Given the description of an element on the screen output the (x, y) to click on. 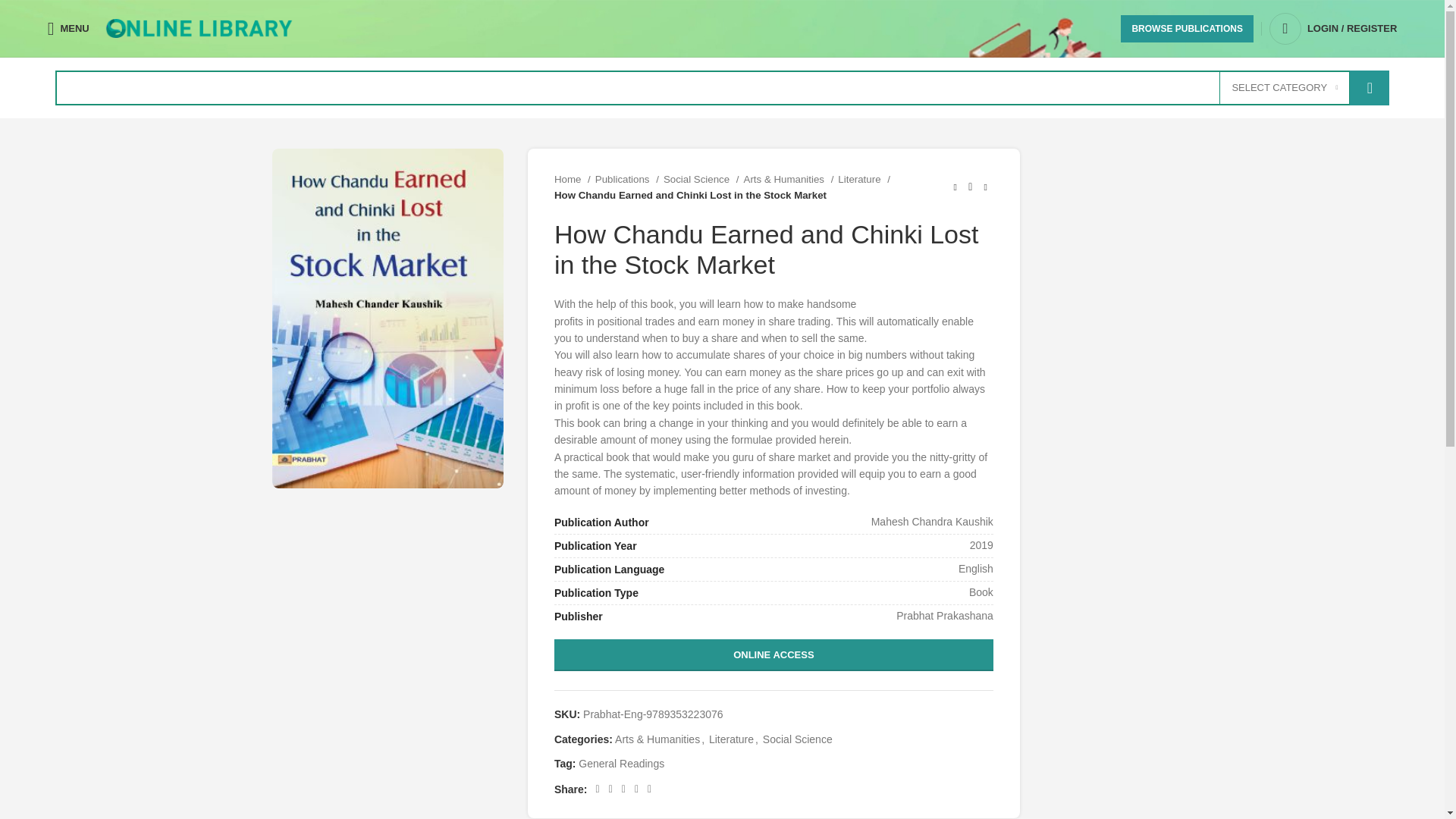
Search for products (722, 87)
Publications (627, 179)
BROWSE PUBLICATIONS (1186, 28)
General Readings (620, 763)
Log in (1271, 245)
SELECT CATEGORY (1284, 88)
MENU (68, 28)
SEARCH (1369, 87)
Social Science (701, 179)
SELECT CATEGORY (1284, 88)
Home (572, 179)
ONLINE ACCESS (773, 654)
My account (1333, 28)
Social Science (797, 739)
Literature (731, 739)
